Given the description of an element on the screen output the (x, y) to click on. 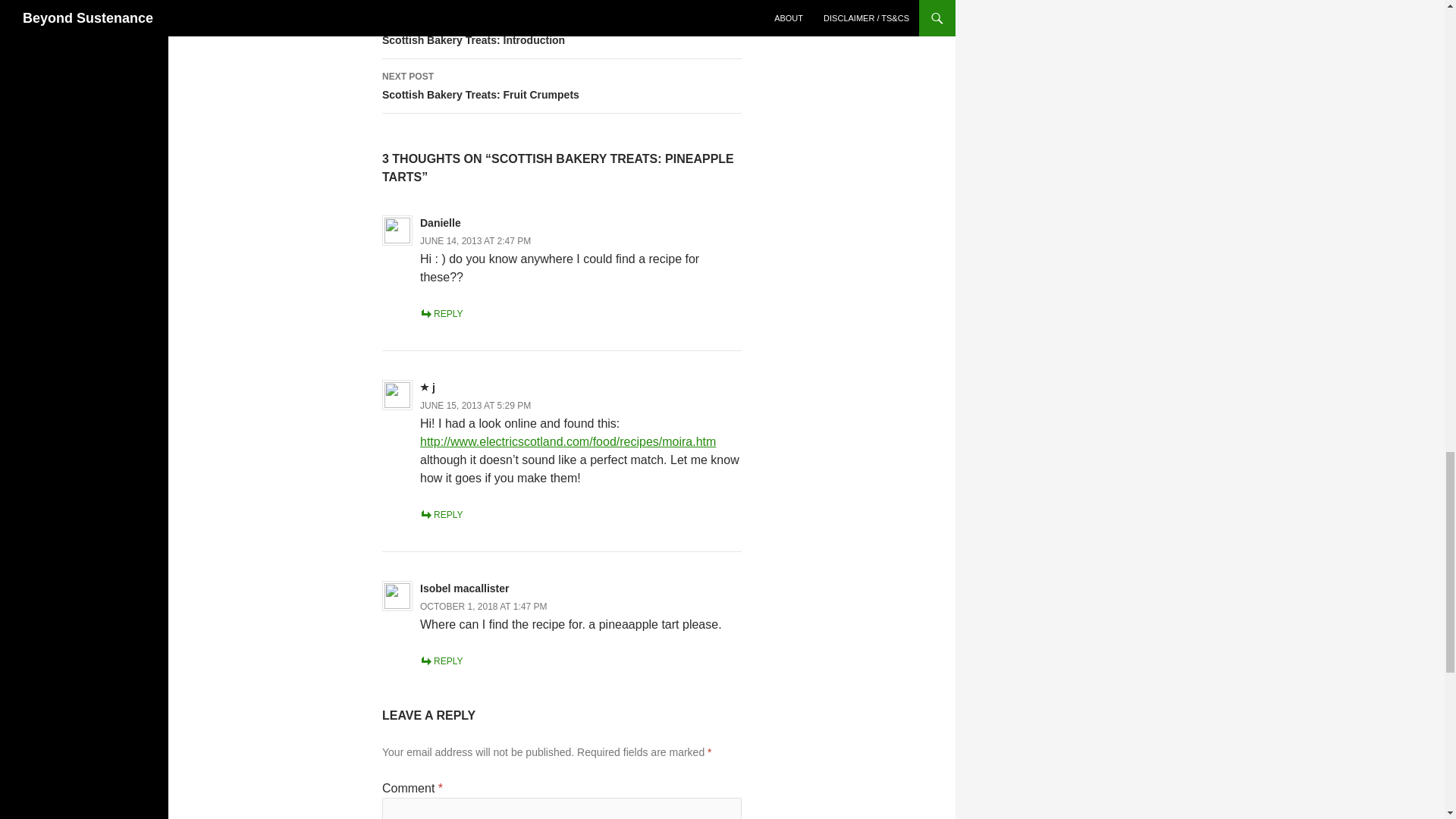
OCTOBER 1, 2018 AT 1:47 PM (483, 606)
JUNE 15, 2013 AT 5:29 PM (475, 405)
REPLY (441, 661)
REPLY (561, 85)
Isobel macallister (561, 31)
REPLY (441, 514)
JUNE 14, 2013 AT 2:47 PM (464, 588)
